Given the description of an element on the screen output the (x, y) to click on. 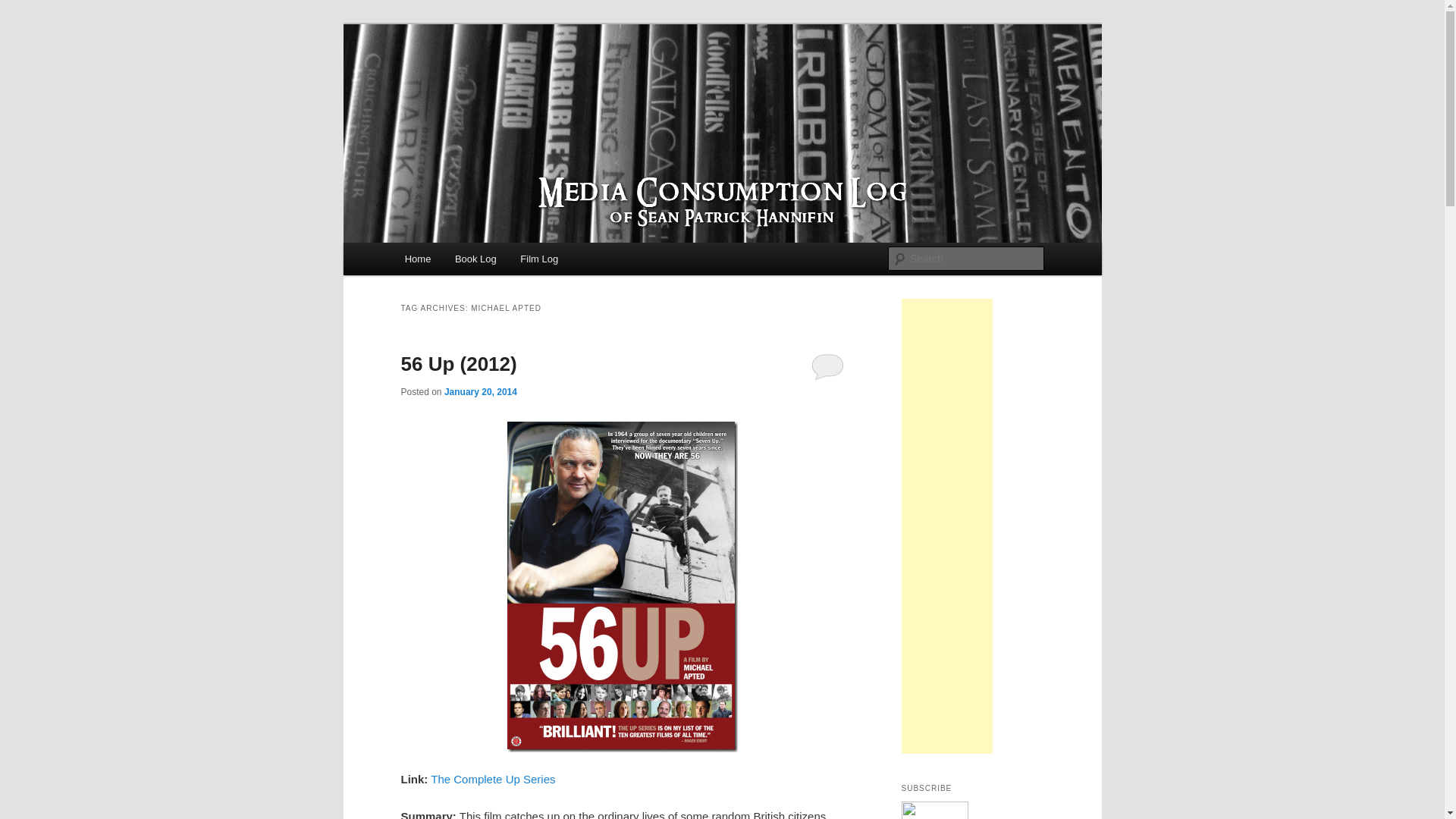
Film Log (539, 258)
Skip to secondary content (479, 261)
Search (24, 8)
The Complete Up Series (492, 779)
Home (417, 258)
6:36 PM (480, 391)
Book Log (475, 258)
January 20, 2014 (480, 391)
Skip to primary content (472, 261)
Media Consumption Log (532, 78)
